Given the description of an element on the screen output the (x, y) to click on. 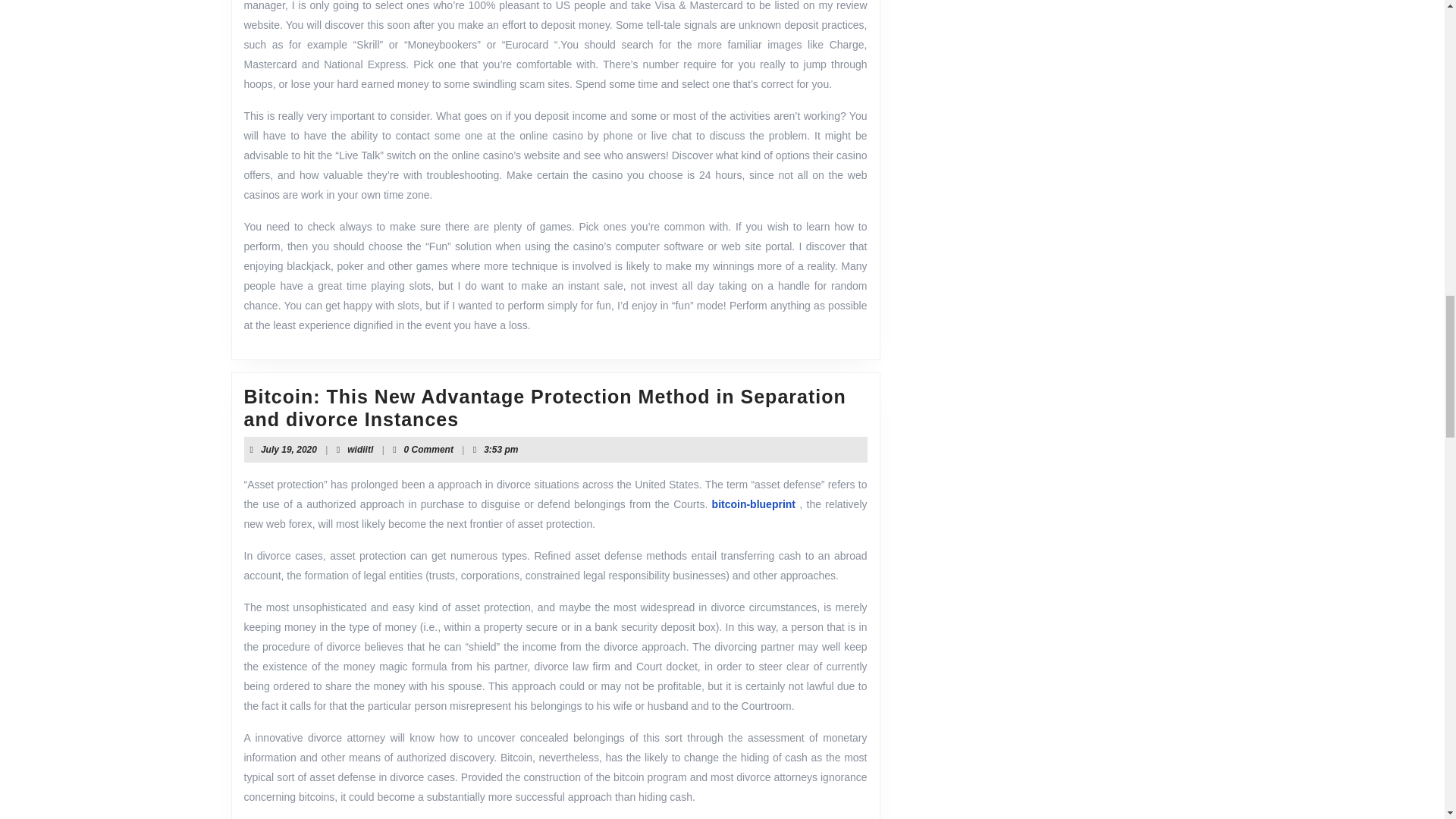
bitcoin-blueprint (359, 449)
